Given the description of an element on the screen output the (x, y) to click on. 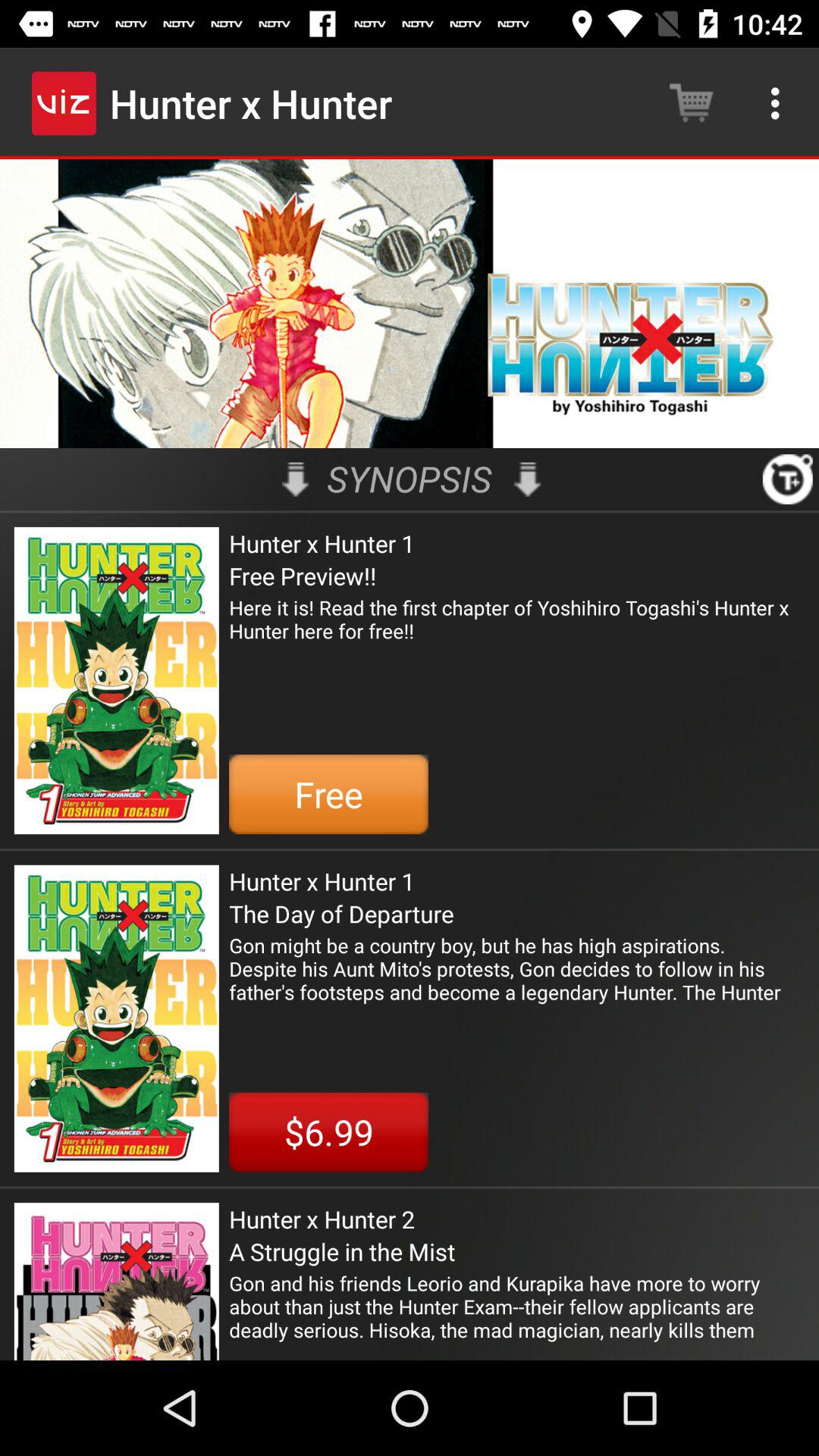
jump to $6.99 item (328, 1132)
